Given the description of an element on the screen output the (x, y) to click on. 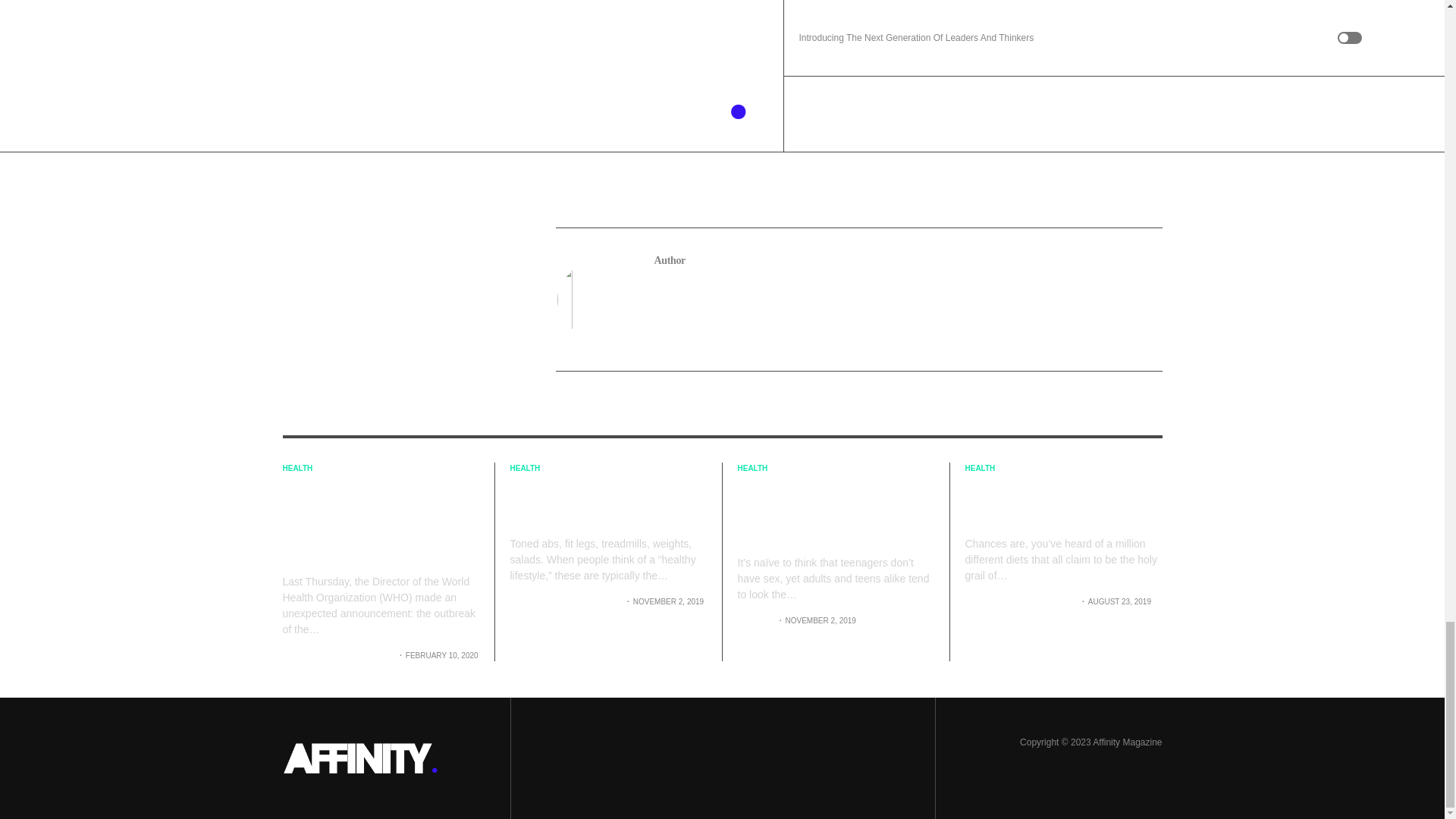
View all posts by Christine Shatrowsky (565, 601)
View all posts by Christine Shatrowsky (337, 655)
View all posts by Christine Shatrowsky (1019, 601)
View all posts by none (754, 620)
